Given the description of an element on the screen output the (x, y) to click on. 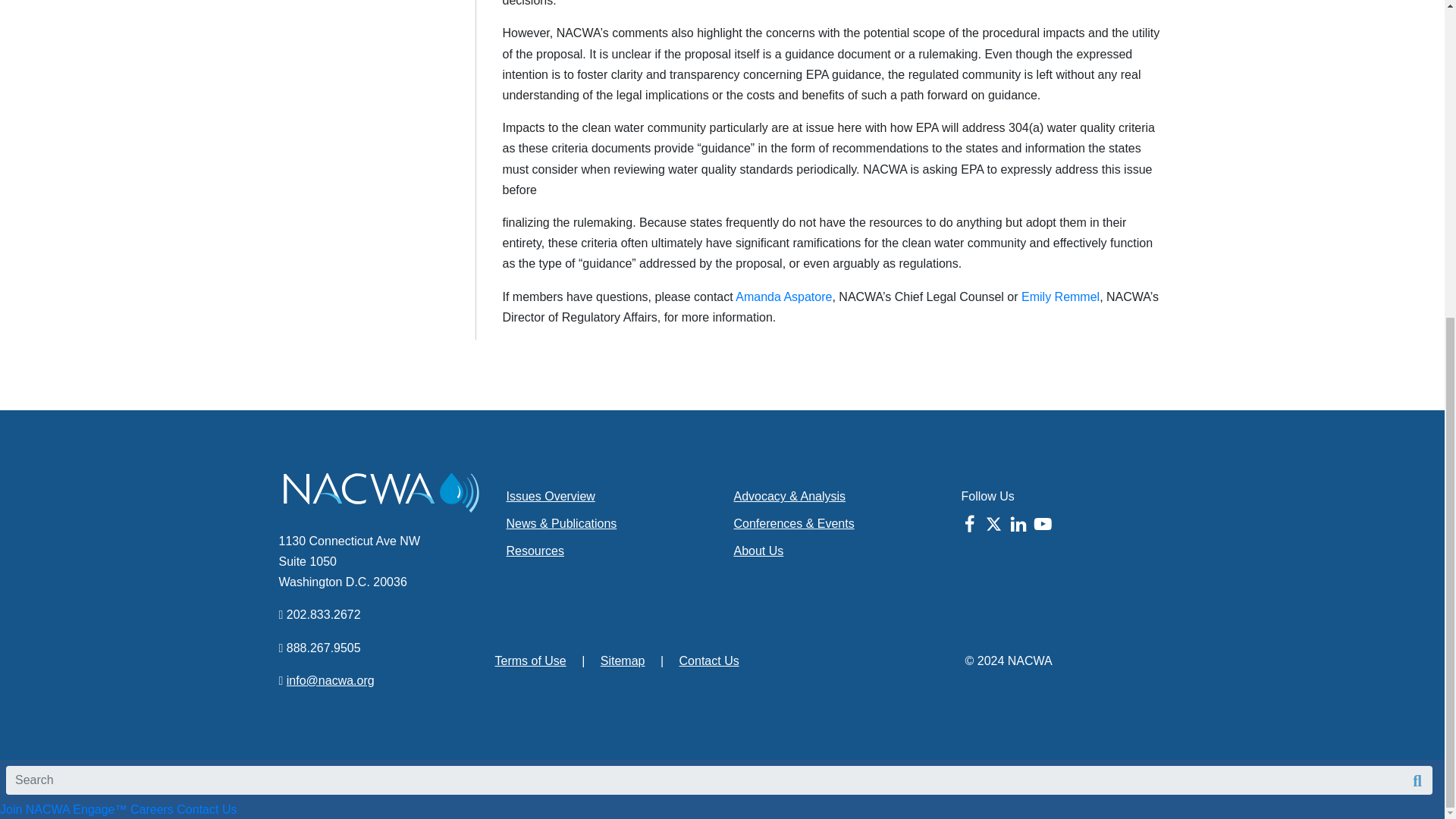
Search input (718, 779)
nacwa-logo-white-f (381, 492)
